Given the description of an element on the screen output the (x, y) to click on. 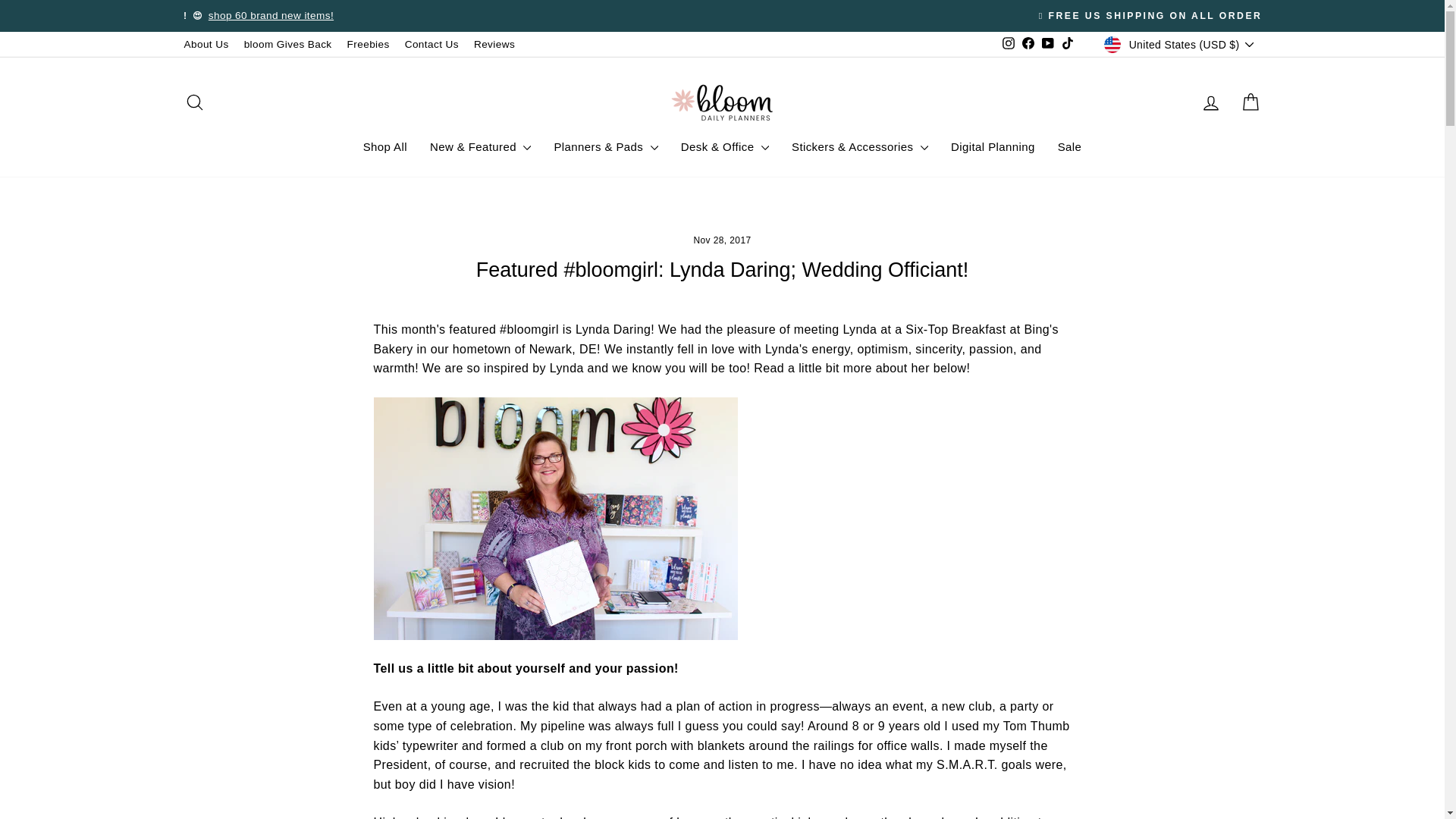
icon-search (194, 102)
account (1210, 102)
instagram (1008, 42)
